Given the description of an element on the screen output the (x, y) to click on. 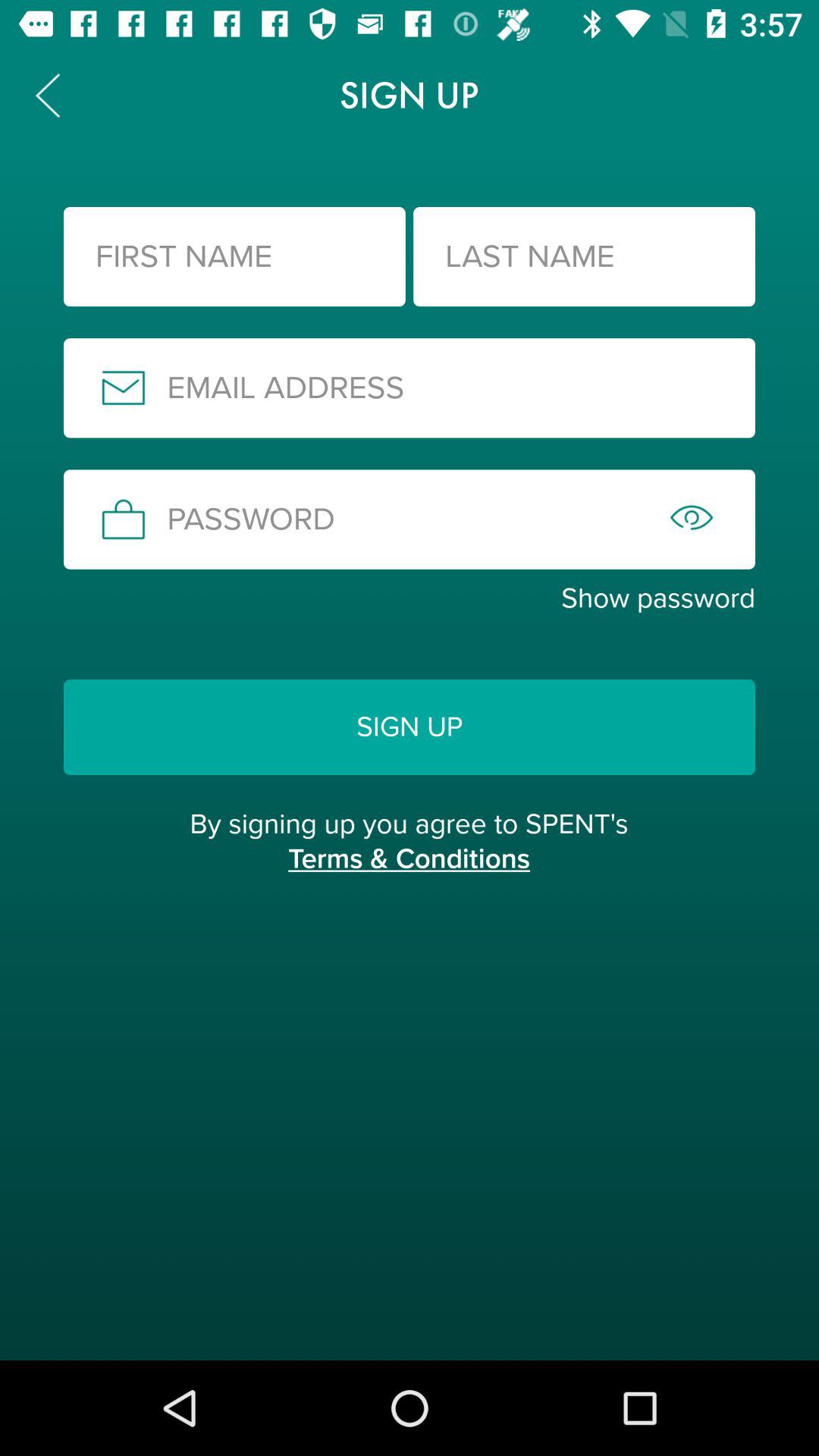
select the text immediately above by signing up you agree to spent terms  conditions (409, 726)
